Given the description of an element on the screen output the (x, y) to click on. 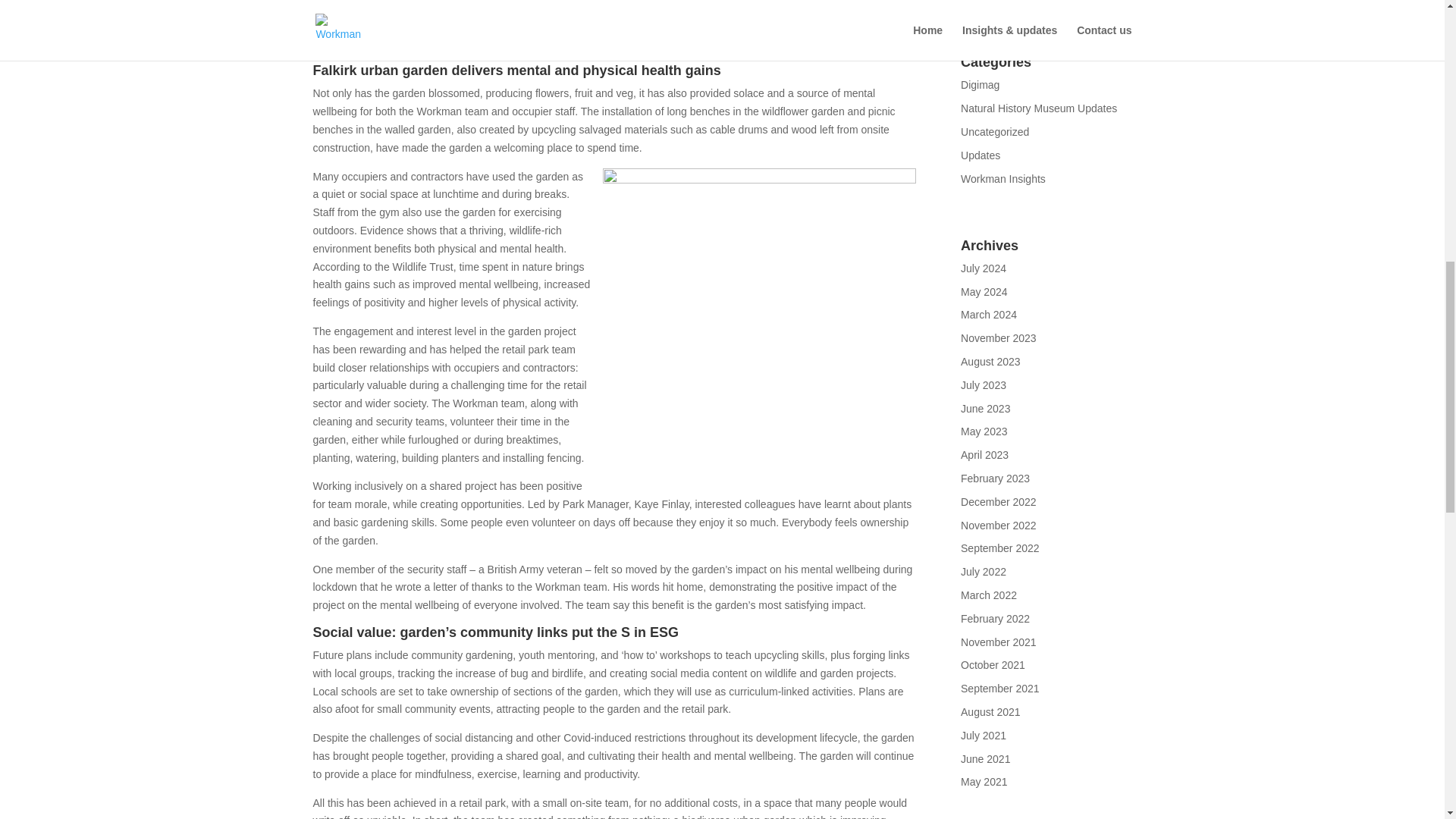
Natural History Museum Updates (1038, 108)
June 2023 (985, 408)
Uncategorized (994, 132)
July 2023 (983, 385)
August 2023 (990, 361)
November 2023 (998, 337)
Property Week Award (552, 43)
March 2024 (988, 314)
May 2023 (983, 431)
July 2024 (983, 268)
